Given the description of an element on the screen output the (x, y) to click on. 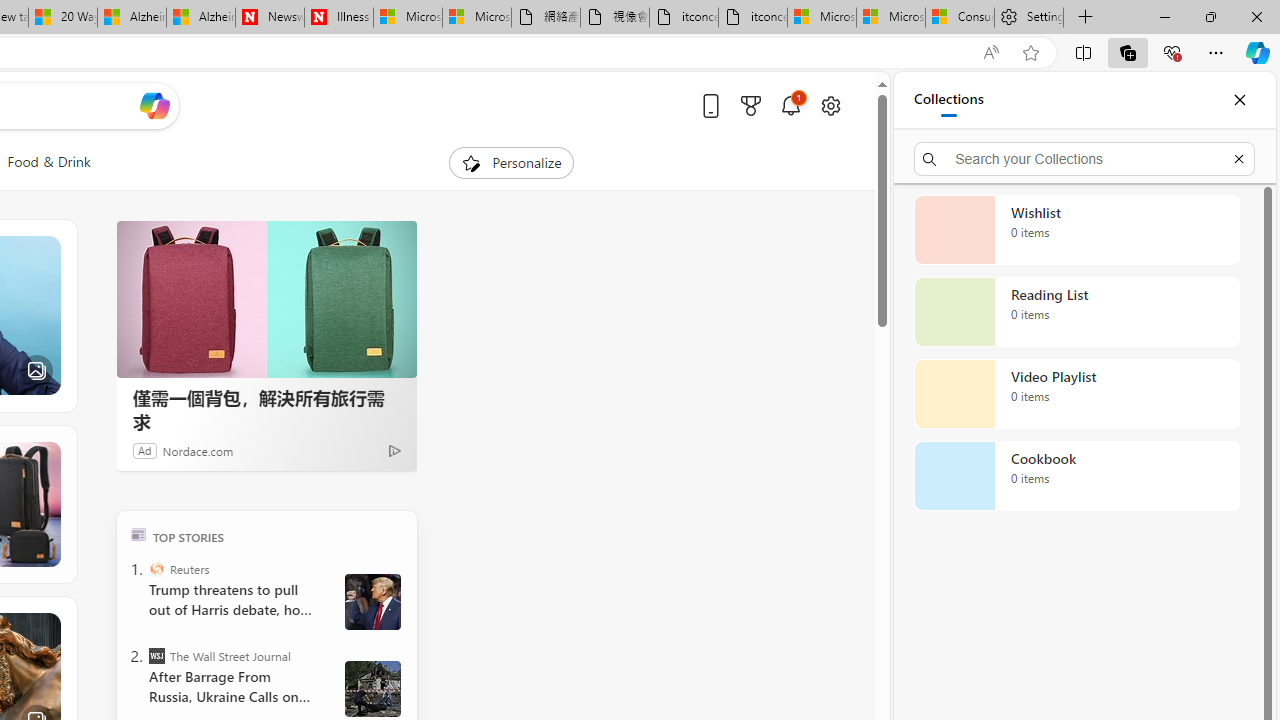
TOP (138, 534)
Open settings (830, 105)
Collections (948, 99)
Split screen (1083, 52)
Ad (145, 450)
See more (46, 626)
The Wall Street Journal (156, 655)
itconcepthk.com/projector_solutions.mp4 (753, 17)
Settings (1028, 17)
